Given the description of an element on the screen output the (x, y) to click on. 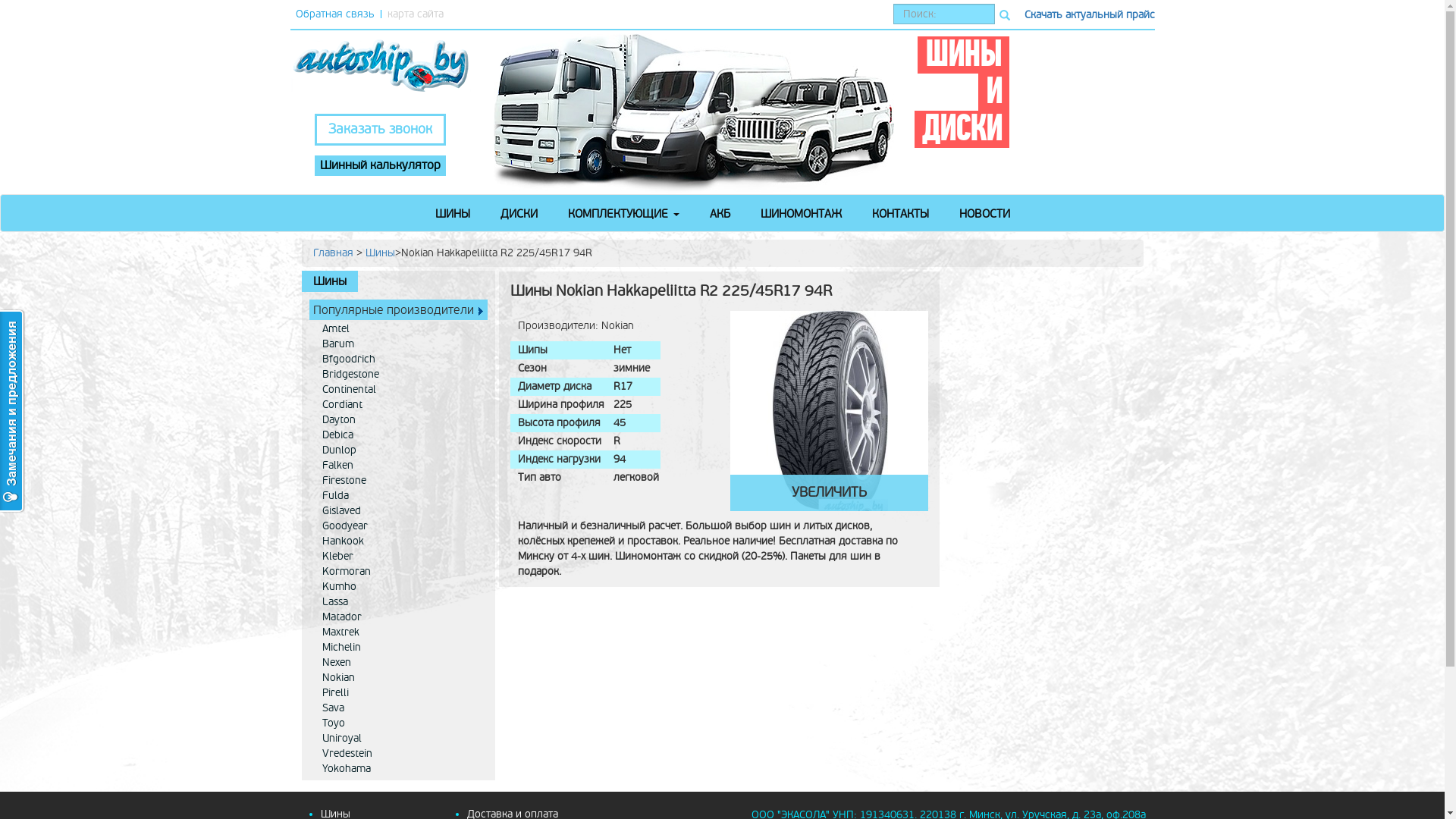
Dunlop Element type: text (400, 450)
Nokian Hakkapeliitta R2 225/45R17 94R Element type: hover (830, 410)
Sava Element type: text (400, 707)
Falken Element type: text (400, 465)
Debica Element type: text (400, 434)
Lassa Element type: text (400, 601)
Nokian Element type: text (400, 677)
Fulda Element type: text (400, 495)
Pirelli Element type: text (400, 692)
Kormoran Element type: text (400, 571)
Amtel Element type: text (400, 328)
Barum Element type: text (400, 343)
Maxtrek Element type: text (400, 632)
Bridgestone Element type: text (400, 374)
Bfgoodrich Element type: text (400, 359)
Toyo Element type: text (400, 723)
Michelin Element type: text (400, 647)
Continental Element type: text (400, 389)
Cordiant Element type: text (400, 404)
Dayton Element type: text (400, 419)
Hankook Element type: text (400, 541)
Kumho Element type: text (400, 586)
Matador Element type: text (400, 616)
Uniroyal Element type: text (400, 738)
Goodyear Element type: text (400, 525)
Yokohama Element type: text (400, 768)
Nexen Element type: text (400, 662)
Vredestein Element type: text (400, 753)
Gislaved Element type: text (400, 510)
Firestone Element type: text (400, 480)
Kleber Element type: text (400, 556)
